Given the description of an element on the screen output the (x, y) to click on. 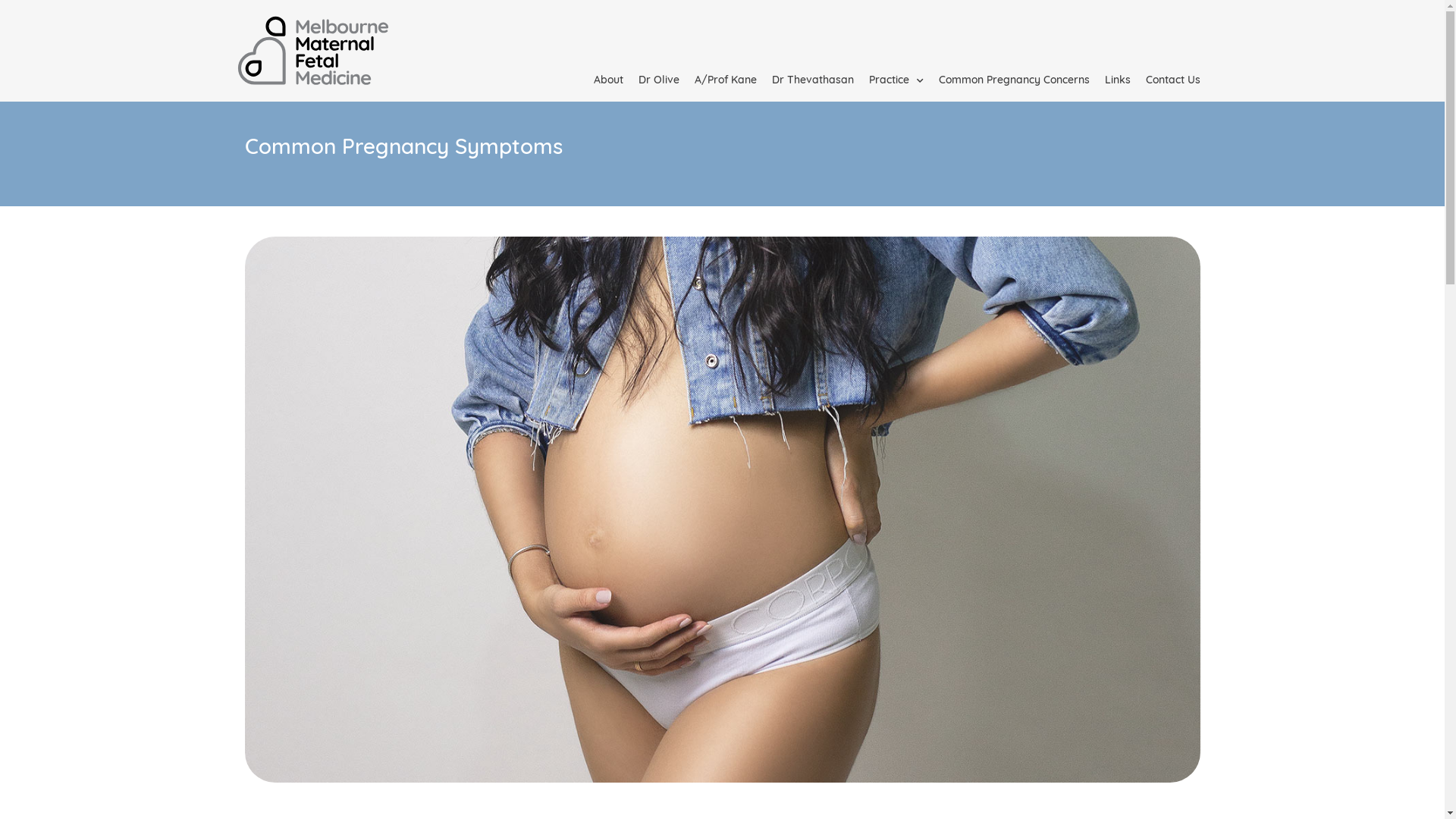
Practice Element type: text (896, 80)
A/Prof Kane Element type: text (725, 80)
Dr Thevathasan Element type: text (812, 80)
Contact Us Element type: text (1172, 80)
About Element type: text (607, 80)
Common Pregnancy Concerns Element type: text (1013, 80)
Dr Olive Element type: text (658, 80)
Links Element type: text (1116, 80)
